Given the description of an element on the screen output the (x, y) to click on. 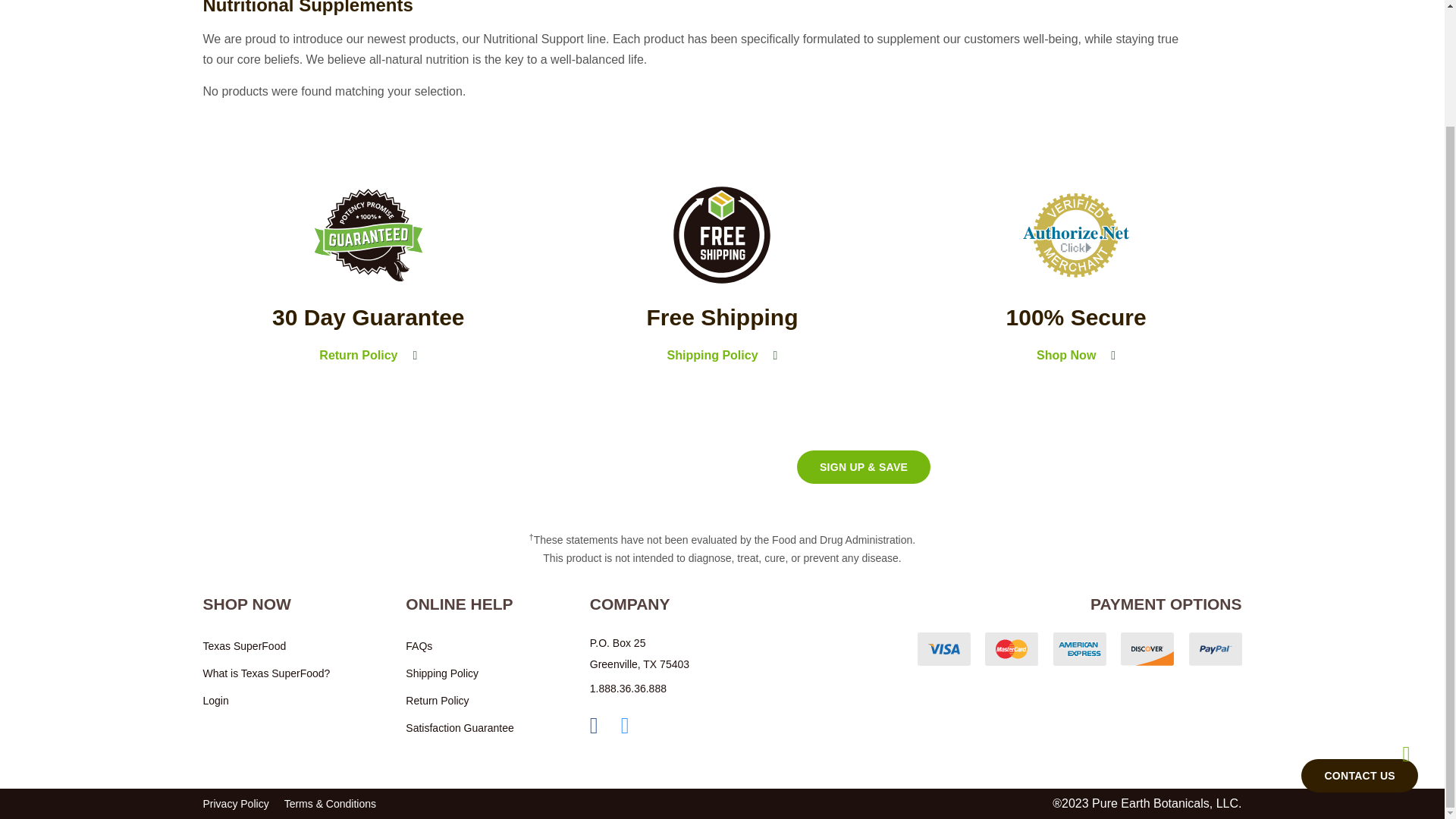
Shipping Policy (722, 354)
FAQs (459, 646)
Shop Now (1076, 354)
Return Policy (459, 700)
What is Texas SuperFood? (266, 673)
Satisfaction Guarantee (459, 728)
Login (266, 700)
CONTACT US (1359, 636)
Shipping Policy (459, 673)
Return Policy (368, 354)
Texas SuperFood (266, 646)
